Given the description of an element on the screen output the (x, y) to click on. 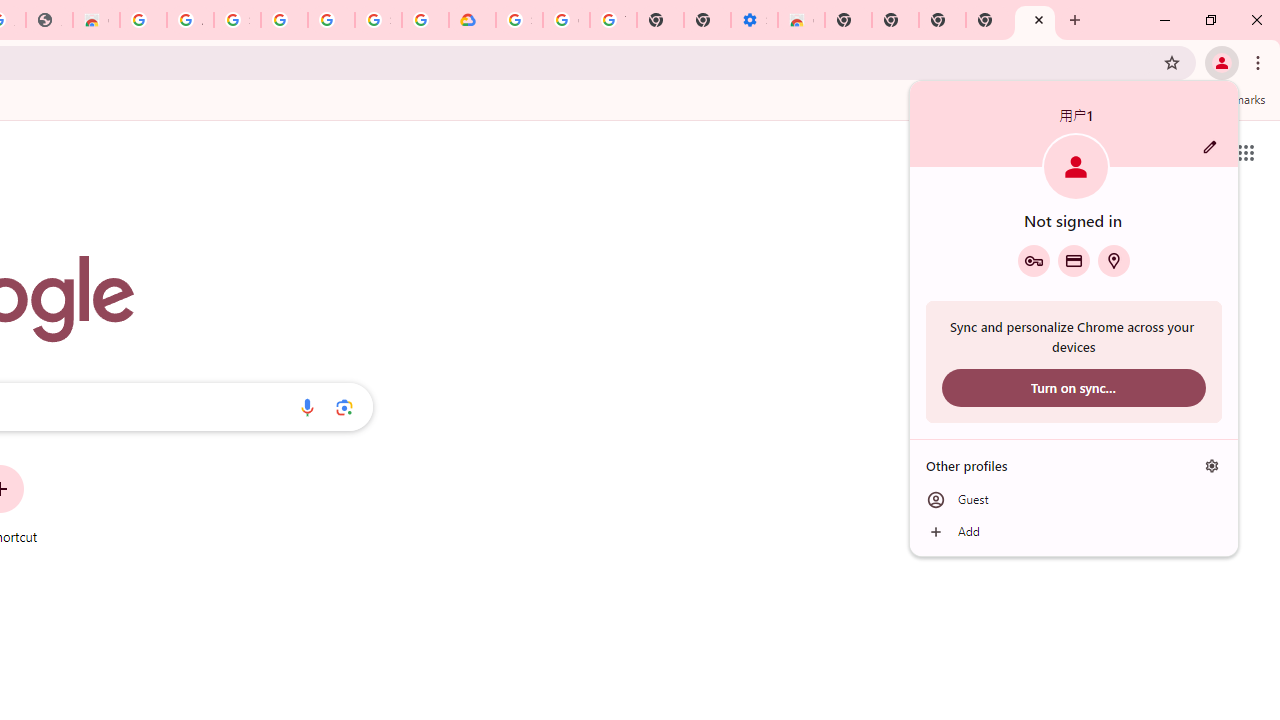
New Tab (989, 20)
Sign in - Google Accounts (518, 20)
Turn cookies on or off - Computer - Google Account Help (613, 20)
Sign in - Google Accounts (237, 20)
Chrome Web Store - Household (96, 20)
Google Password Manager (1033, 260)
Payment methods (1074, 260)
New Tab (848, 20)
Sign in - Google Accounts (377, 20)
